Given the description of an element on the screen output the (x, y) to click on. 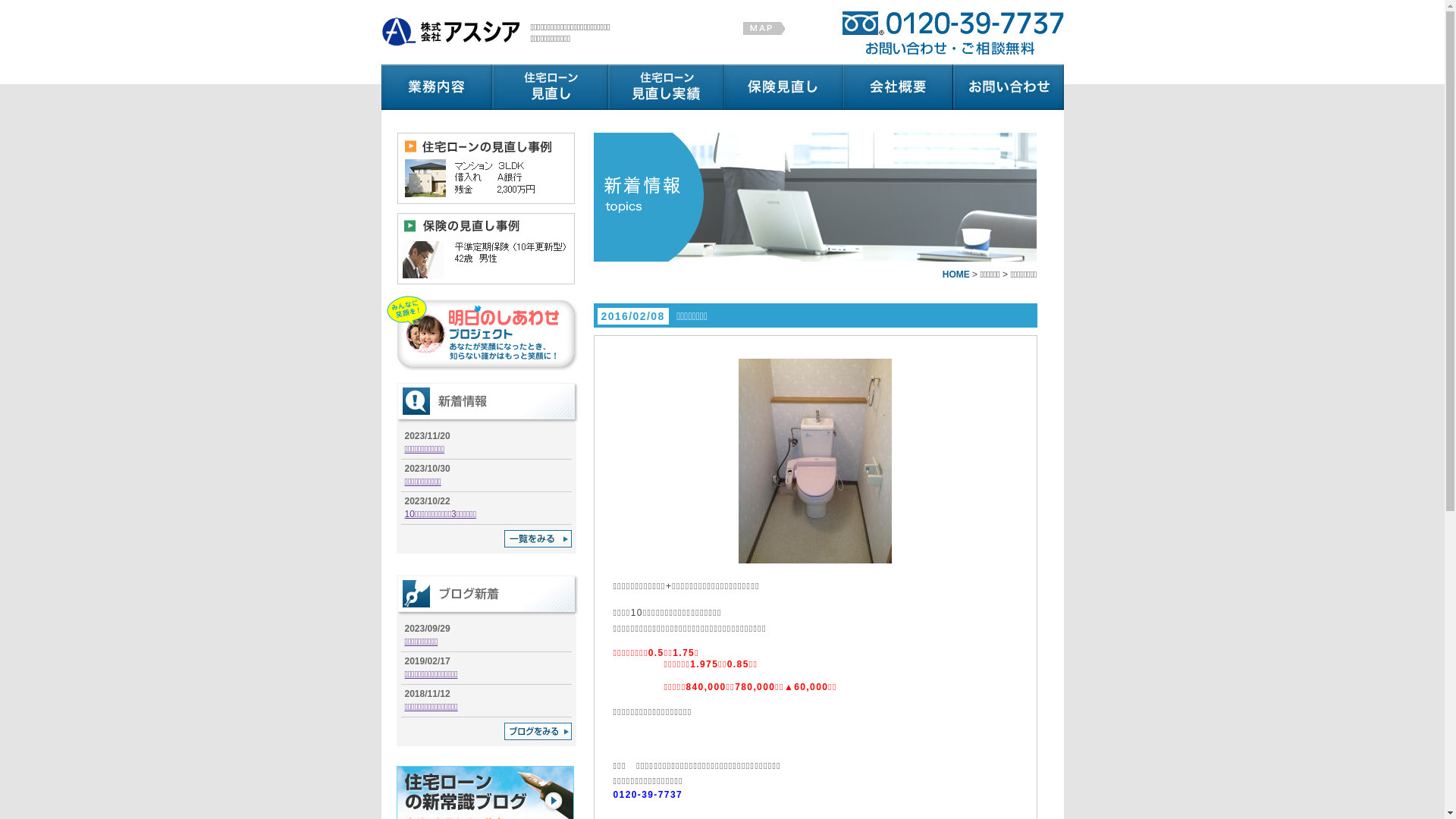
HOME Element type: text (955, 274)
